Given the description of an element on the screen output the (x, y) to click on. 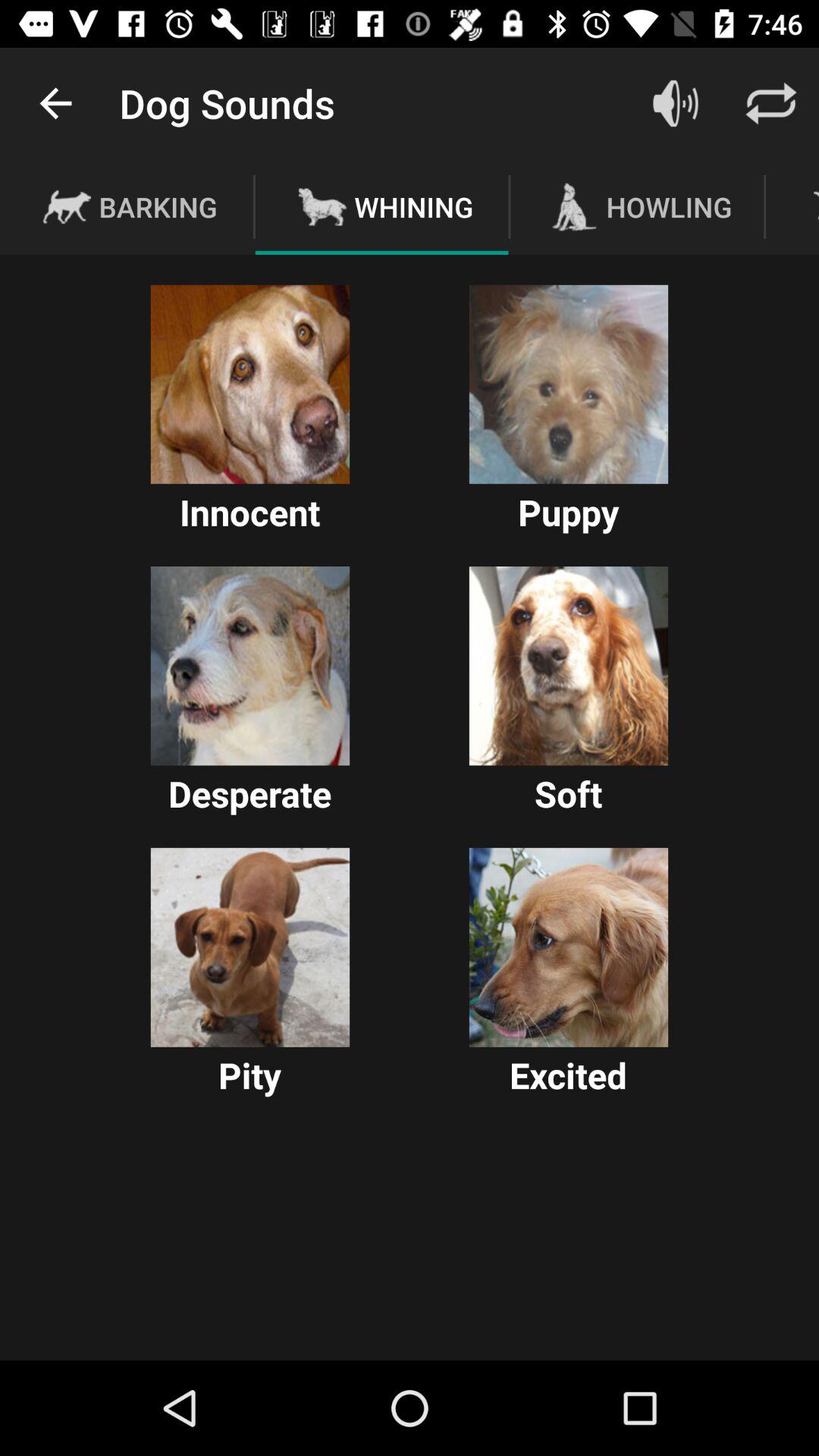
wallpaper (568, 384)
